Given the description of an element on the screen output the (x, y) to click on. 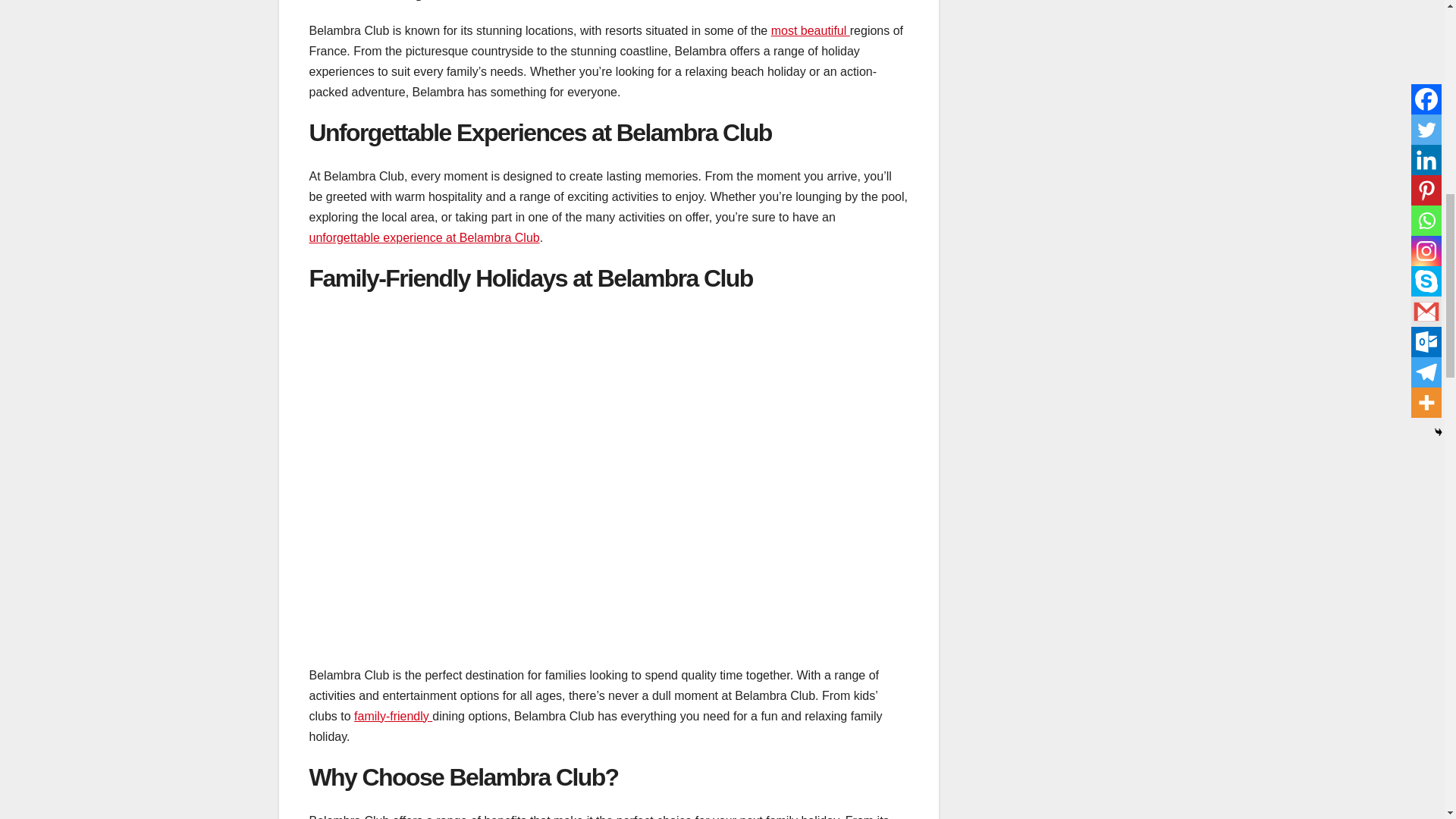
most beautiful (810, 30)
unforgettable experience at Belambra Club (424, 237)
family-friendly (392, 716)
